Given the description of an element on the screen output the (x, y) to click on. 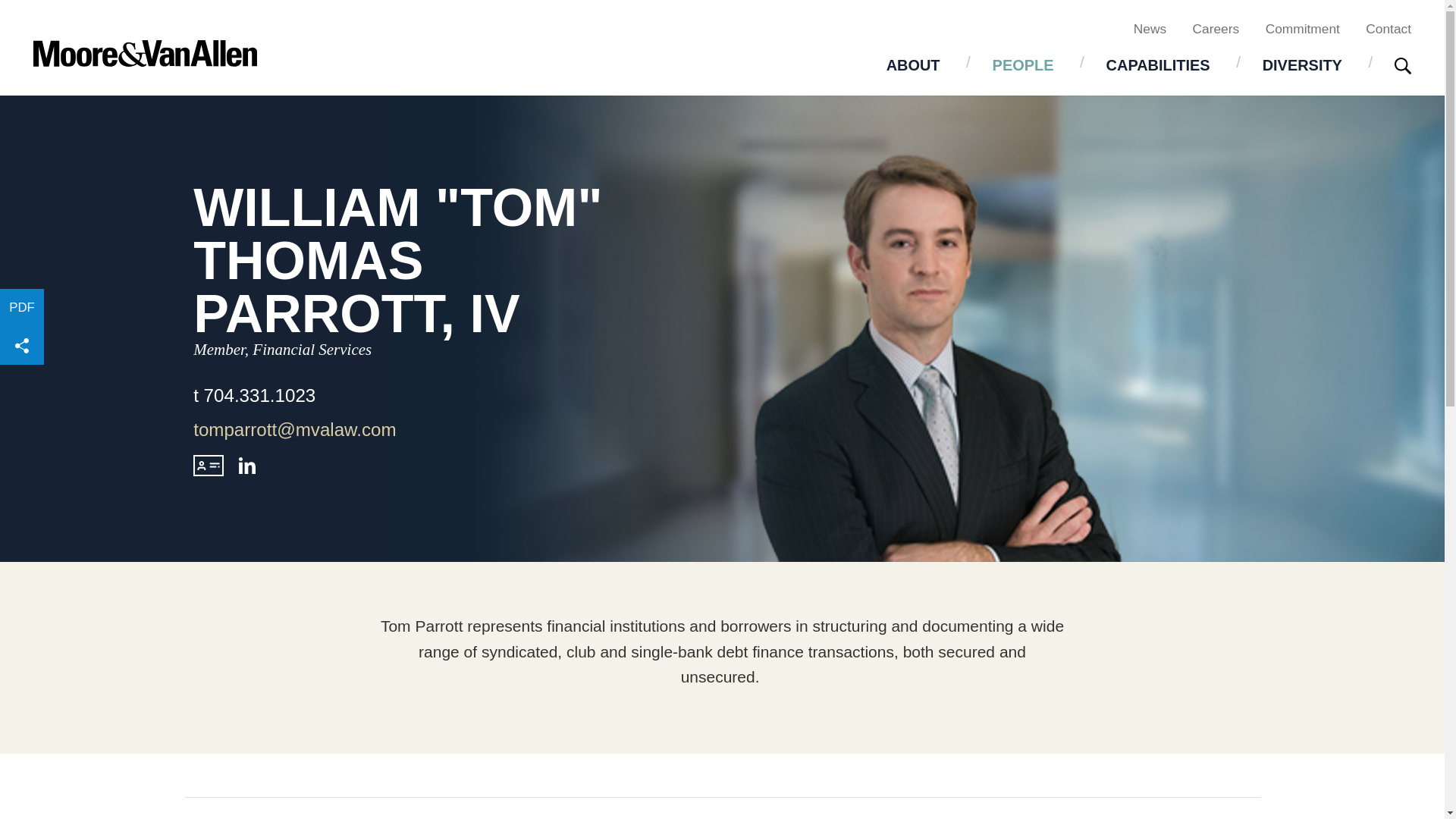
Main Content (663, 20)
Main Menu (671, 20)
Menu (671, 20)
Careers (1215, 28)
ABOUT (913, 64)
PEOPLE (1023, 64)
News (1150, 28)
DIVERSITY (1302, 64)
SEARCH (1402, 65)
Share (21, 345)
SEARCH (1402, 66)
Commitment (1302, 28)
CAPABILITIES (1158, 64)
